Given the description of an element on the screen output the (x, y) to click on. 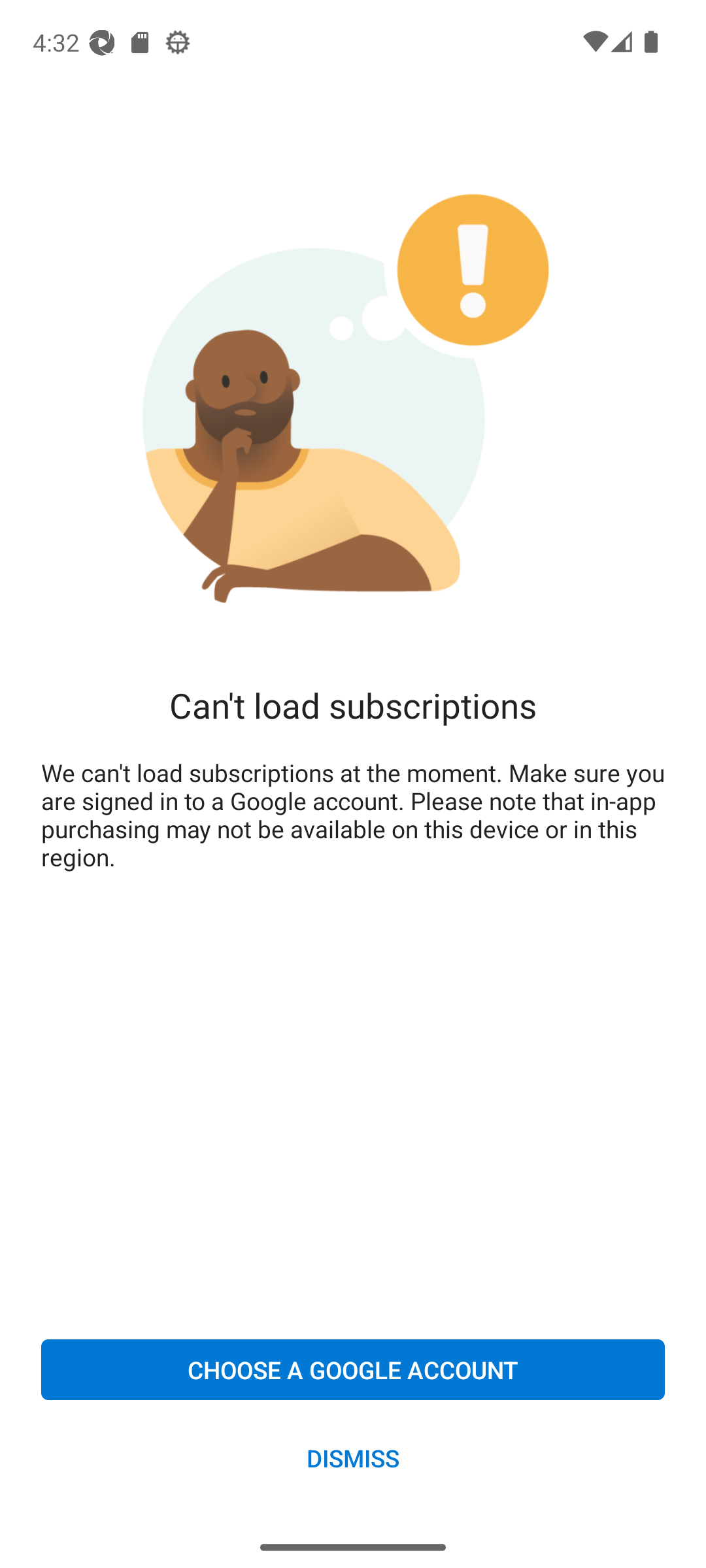
CHOOSE A GOOGLE ACCOUNT (352, 1369)
DISMISS (352, 1457)
